Given the description of an element on the screen output the (x, y) to click on. 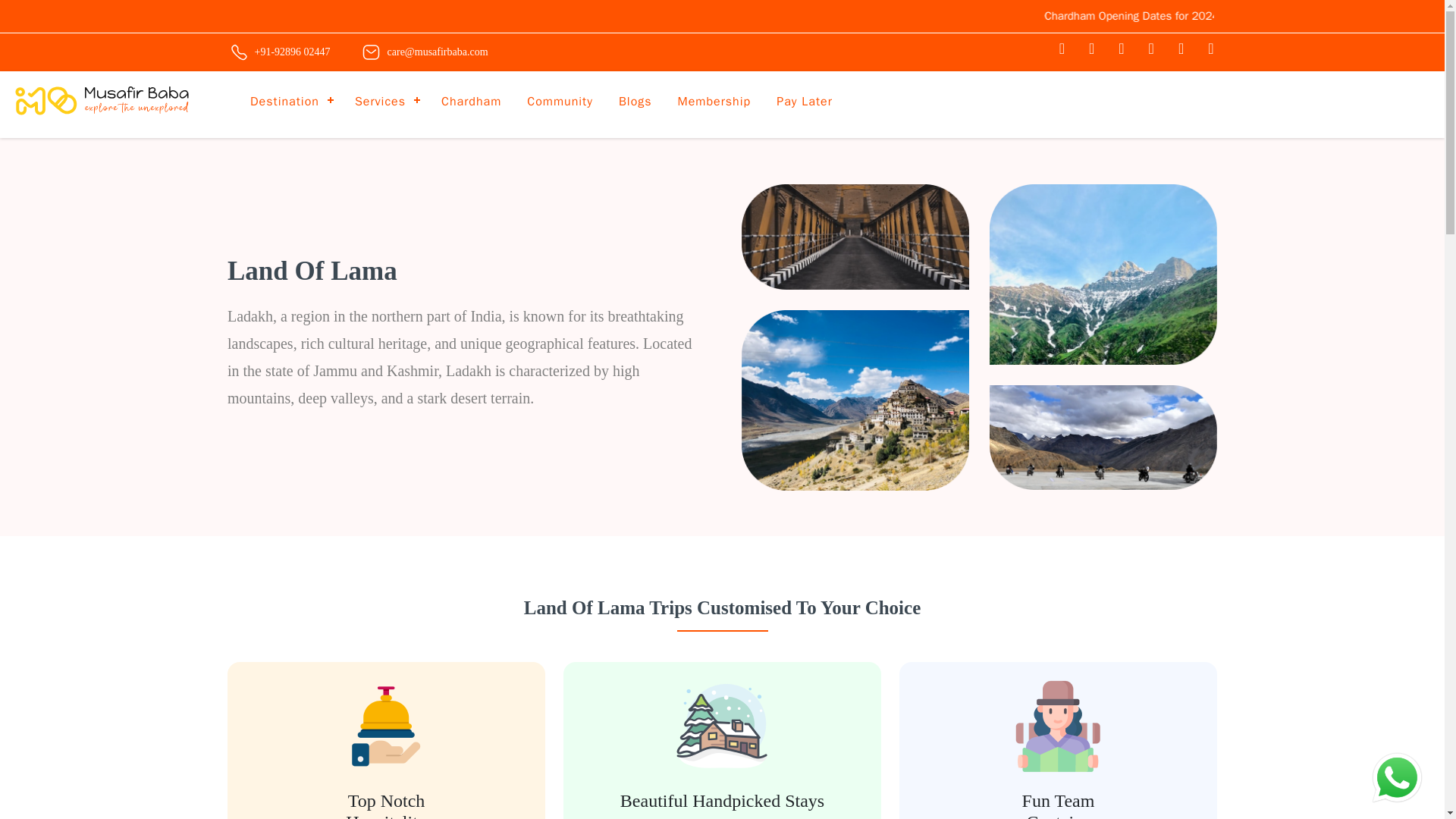
Destination (289, 100)
